Given the description of an element on the screen output the (x, y) to click on. 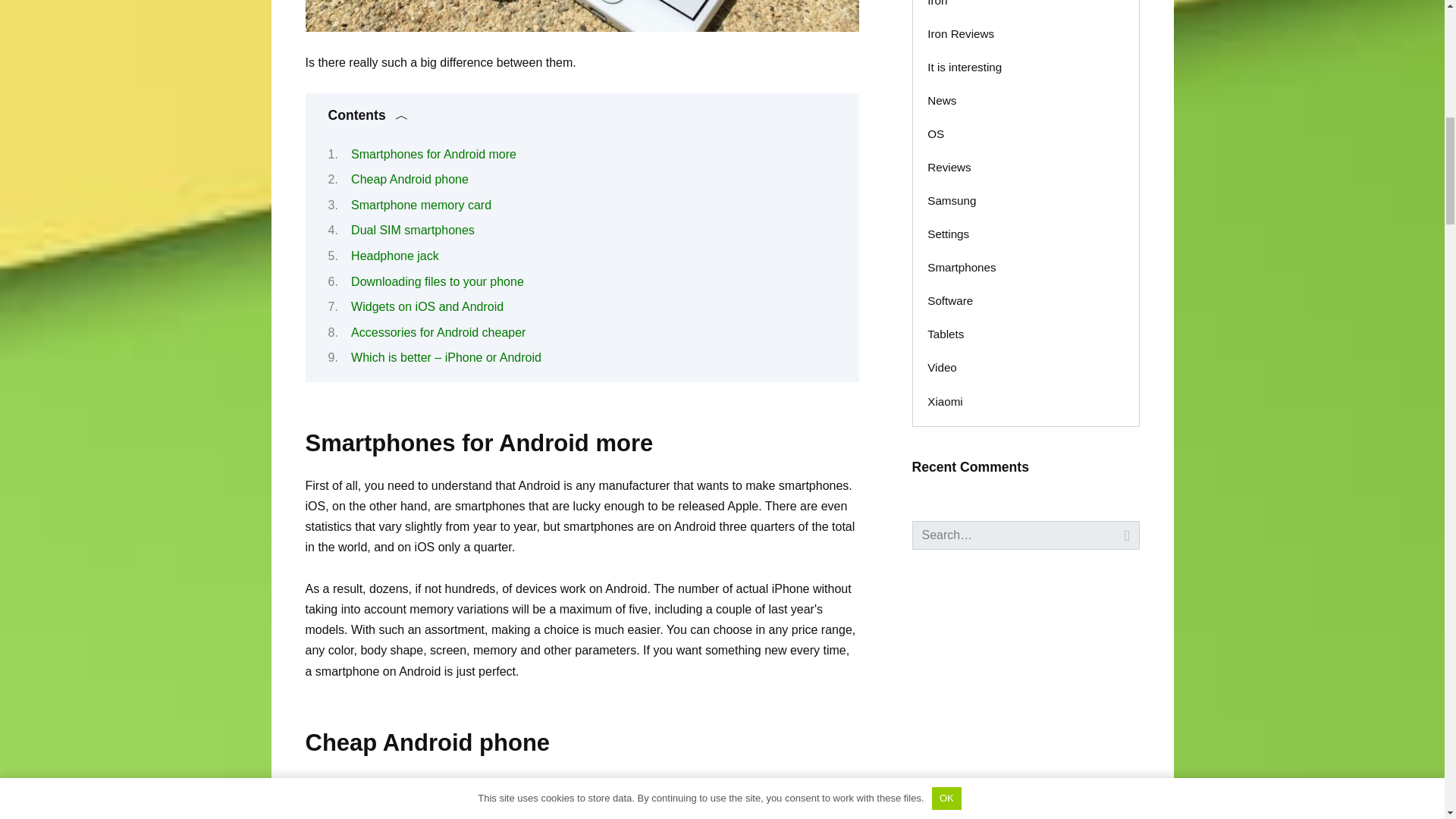
Smartphone memory card (421, 205)
Headphone jack (394, 255)
Cheap Android phone (409, 178)
Smartphones for Android more (433, 154)
Widgets on iOS and Android (426, 306)
Accessories for Android cheaper (437, 332)
Downloading files to your phone (437, 281)
Dual SIM smartphones (412, 229)
